Given the description of an element on the screen output the (x, y) to click on. 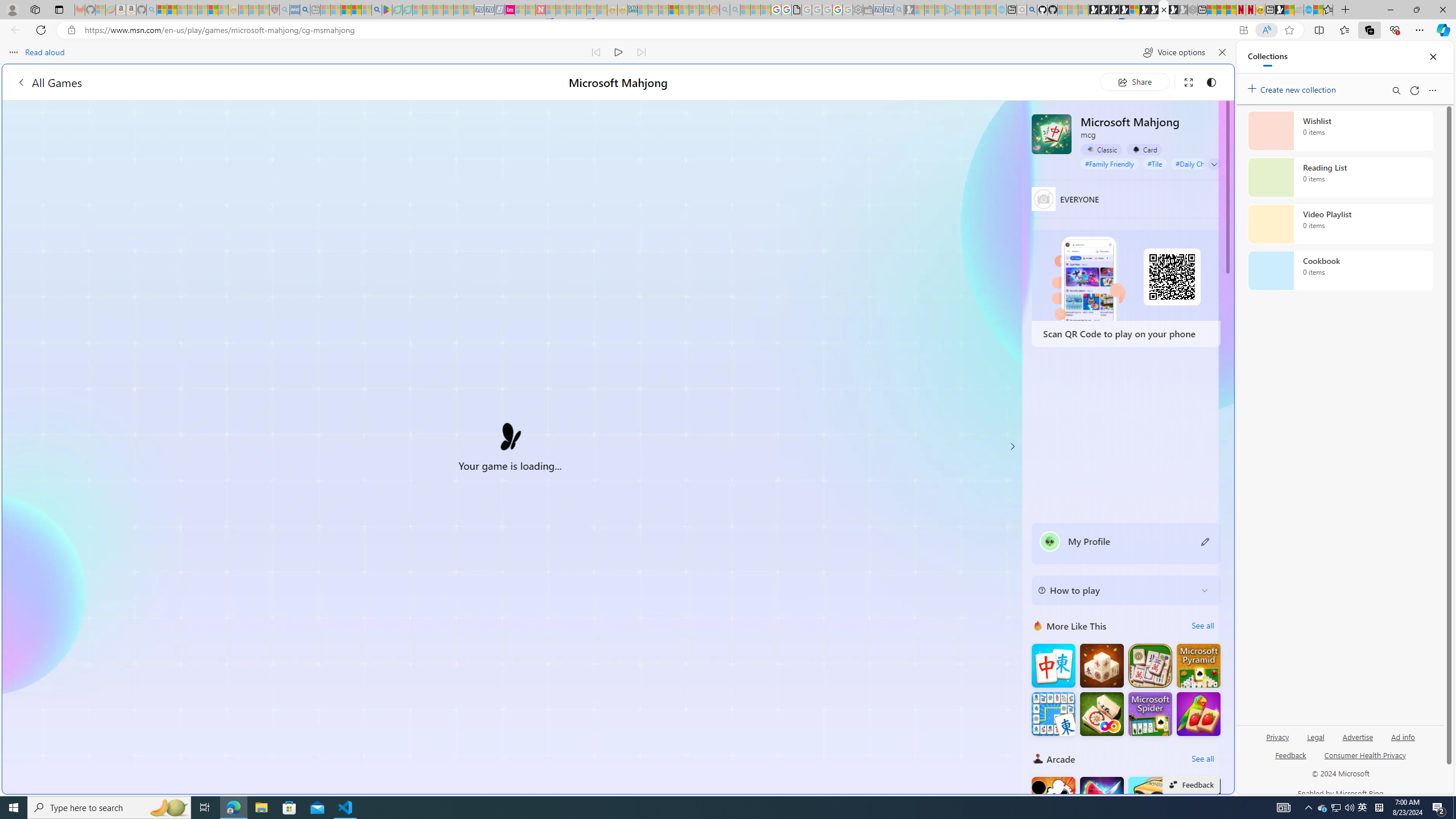
Bluey: Let's Play! - Apps on Google Play (387, 9)
Services - Maintenance | Sky Blue Bikes - Sky Blue Bikes (1307, 9)
Cheap Hotels - Save70.com - Sleeping (489, 9)
Solitaire Mahjong Juicy (1198, 713)
Workspaces (34, 9)
Microsoft-Report a Concern to Bing - Sleeping (100, 9)
Share (1134, 81)
Class: control (1214, 163)
Navy Quest (1299, 9)
Cheap Car Rentals - Save70.com - Sleeping (888, 9)
Advertise (1357, 736)
